Given the description of an element on the screen output the (x, y) to click on. 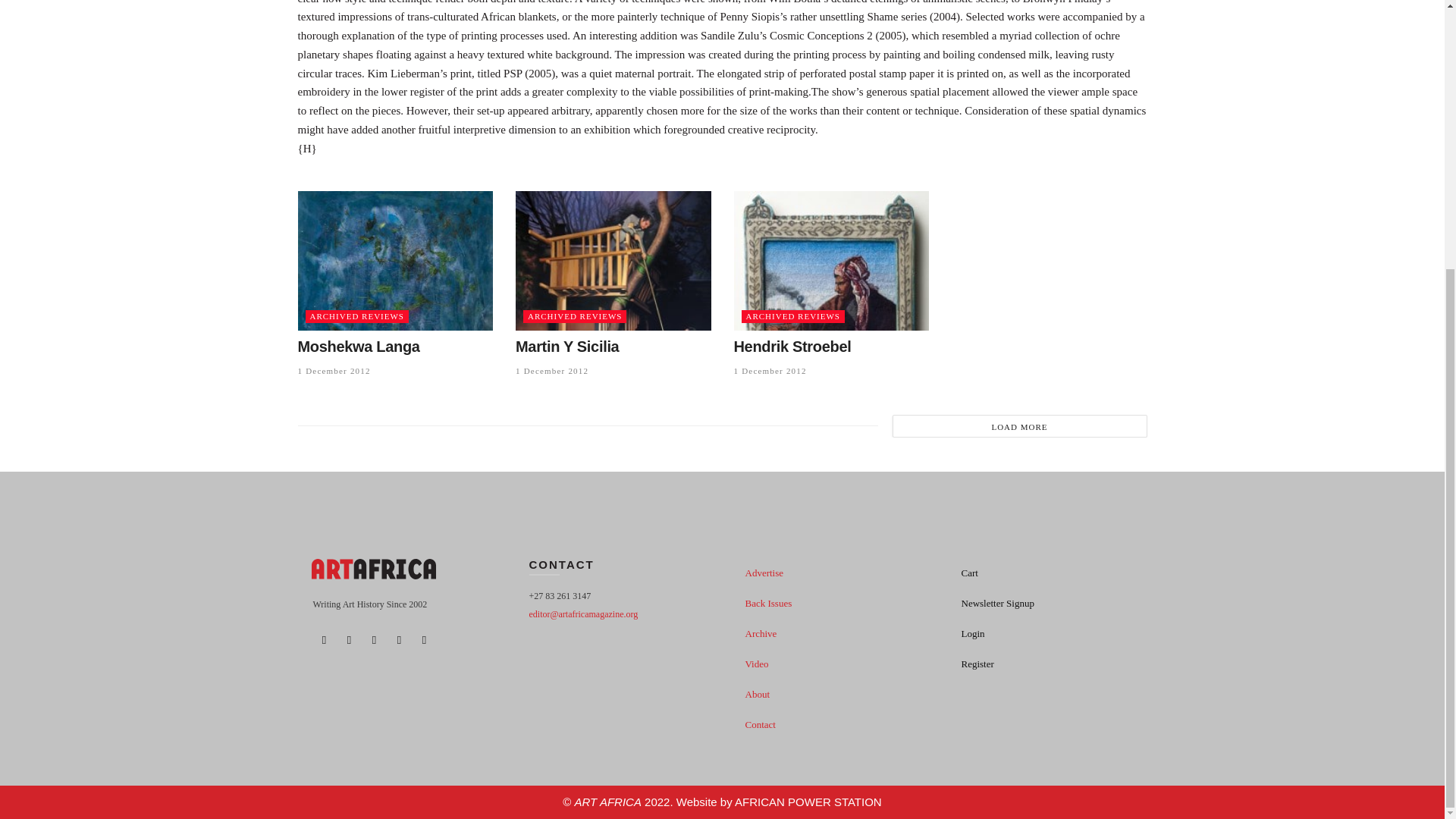
Icon-youtube-v (373, 639)
Icon-twitter1 (349, 639)
Martin Y Sicilia (566, 346)
ARCHIVED REVIEWS (792, 316)
1 December 2012 (333, 370)
1 December 2012 (551, 370)
Icon-facebook (323, 639)
Icon-soundcloud-1 (399, 639)
1 December 2012 (769, 370)
ARCHIVED REVIEWS (574, 316)
